Given the description of an element on the screen output the (x, y) to click on. 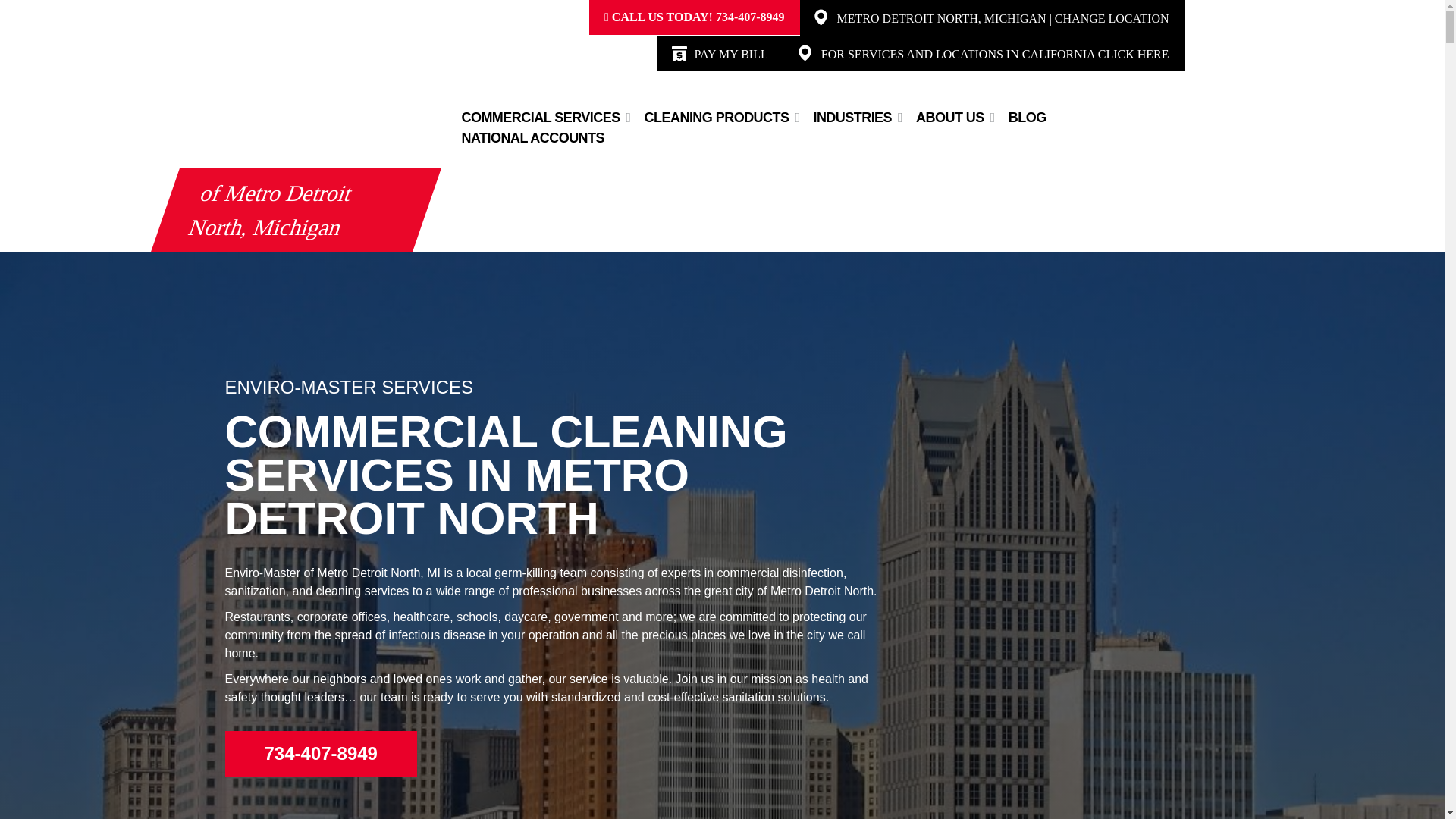
COMMERCIAL SERVICES (539, 117)
PAY MY BILL (731, 53)
FOR SERVICES AND LOCATIONS IN CALIFORNIA CLICK HERE (995, 53)
Cleaning Products (716, 117)
of Metro Detroit North, Michigan (295, 209)
ABOUT US (949, 117)
INDUSTRIES (852, 117)
CLEANING PRODUCTS (716, 117)
Commercial Services (539, 117)
CALL US TODAY! 734-407-8949 (694, 16)
